Given the description of an element on the screen output the (x, y) to click on. 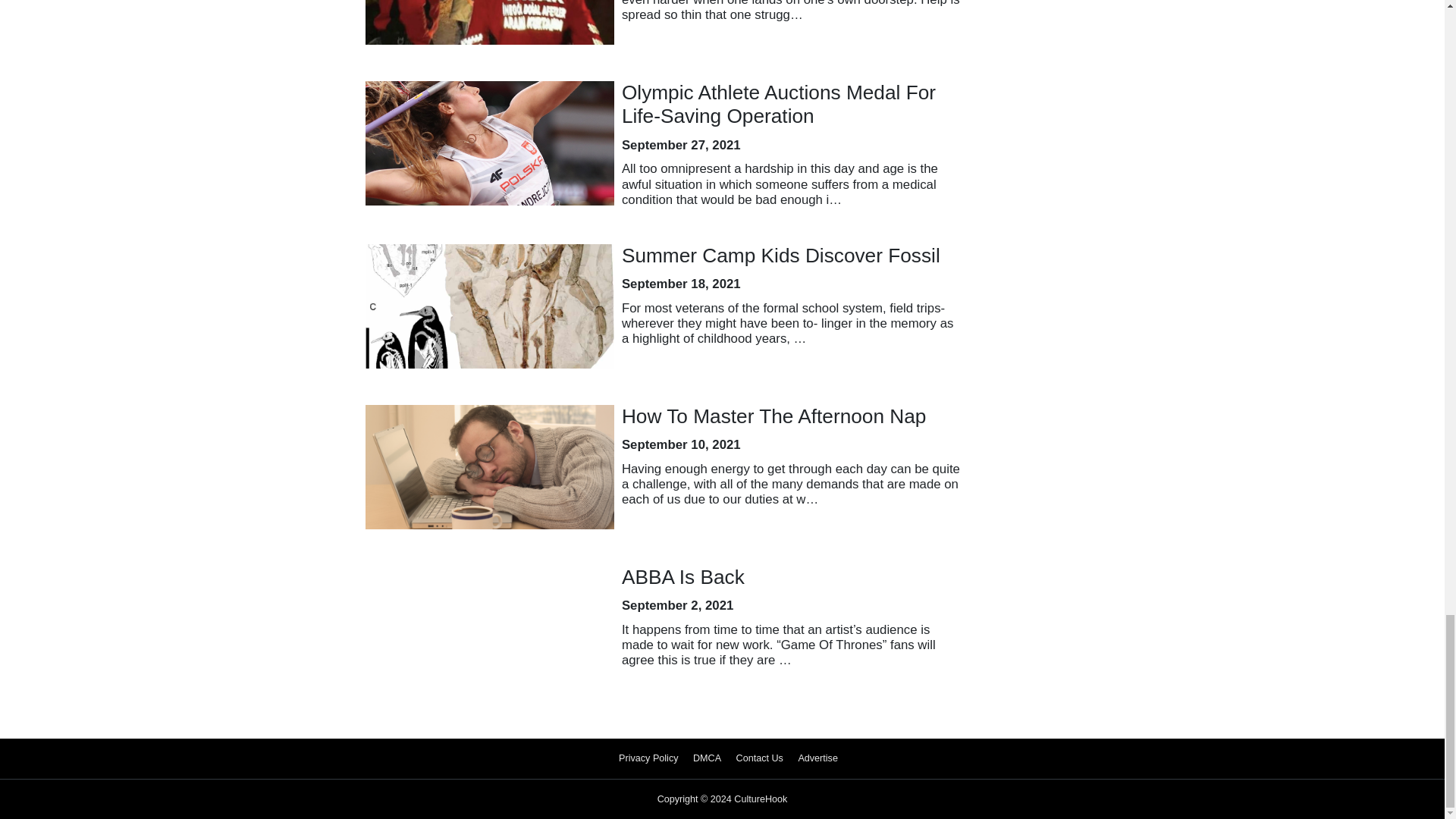
DMCA (706, 758)
Advertise (817, 758)
Contact Us (759, 758)
Privacy Policy (648, 758)
